Given the description of an element on the screen output the (x, y) to click on. 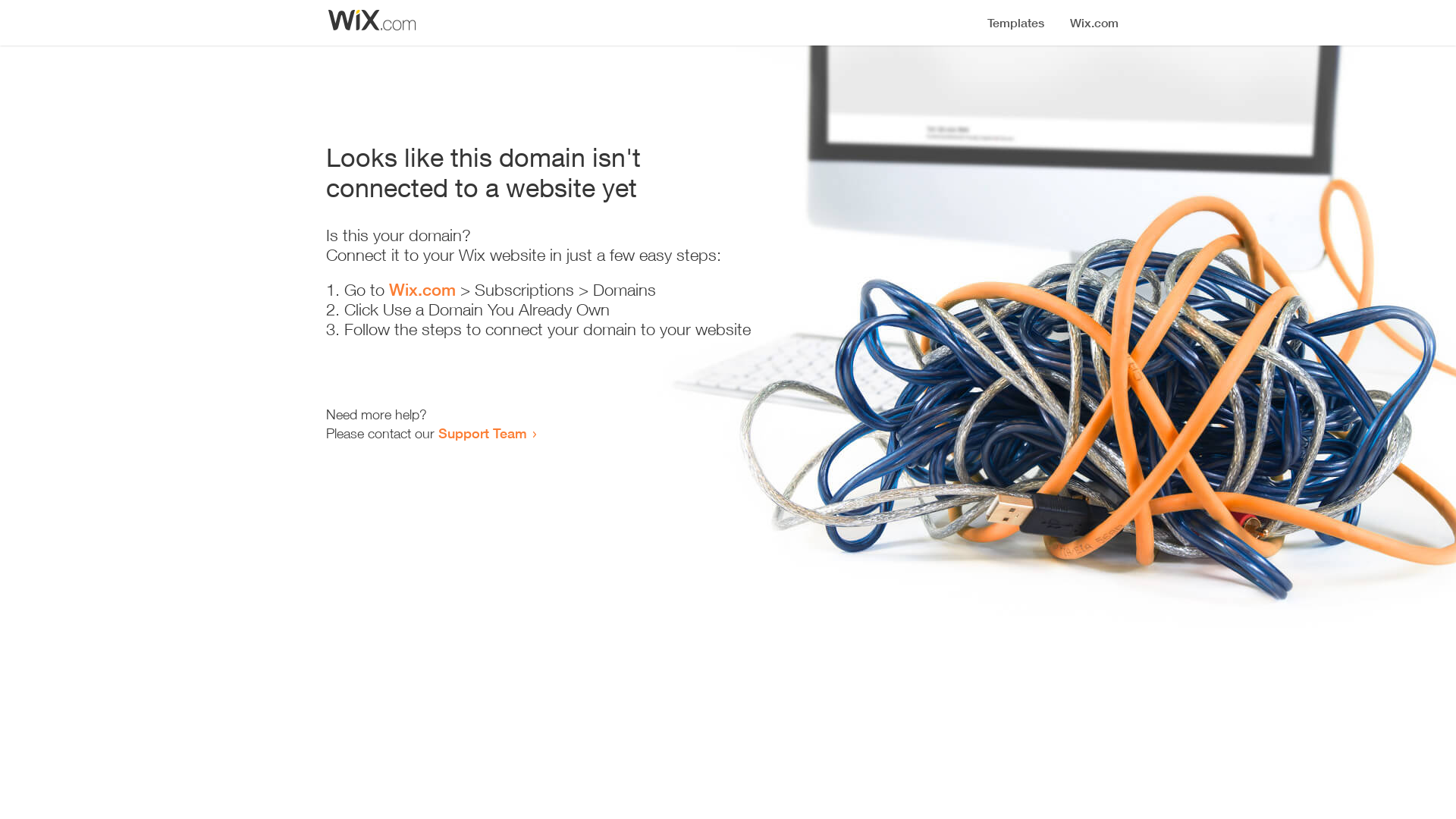
Support Team Element type: text (482, 432)
Wix.com Element type: text (422, 289)
